Given the description of an element on the screen output the (x, y) to click on. 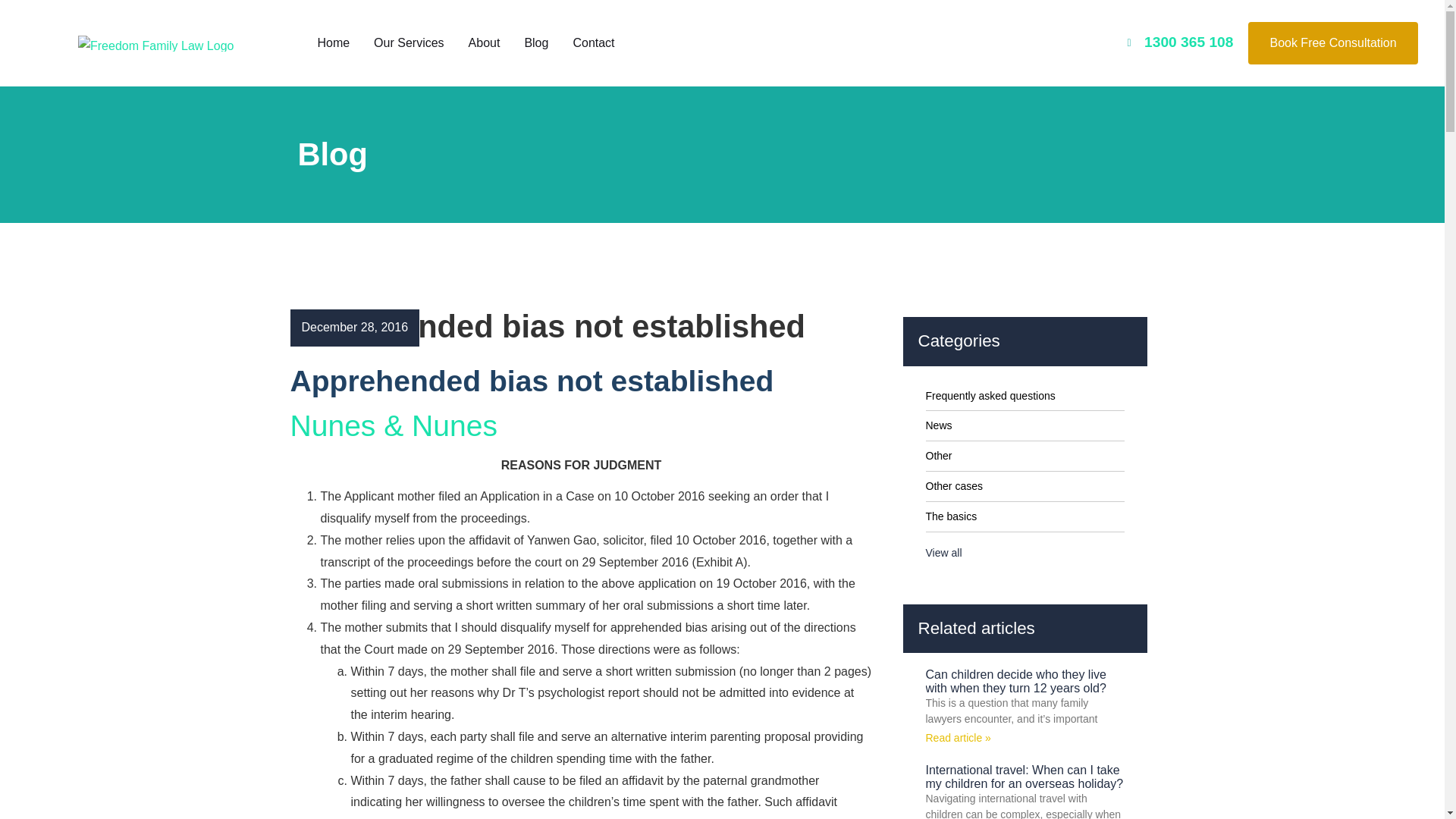
About (484, 42)
Blog (536, 42)
Contact (593, 42)
Our Services (408, 42)
Home (332, 42)
